Given the description of an element on the screen output the (x, y) to click on. 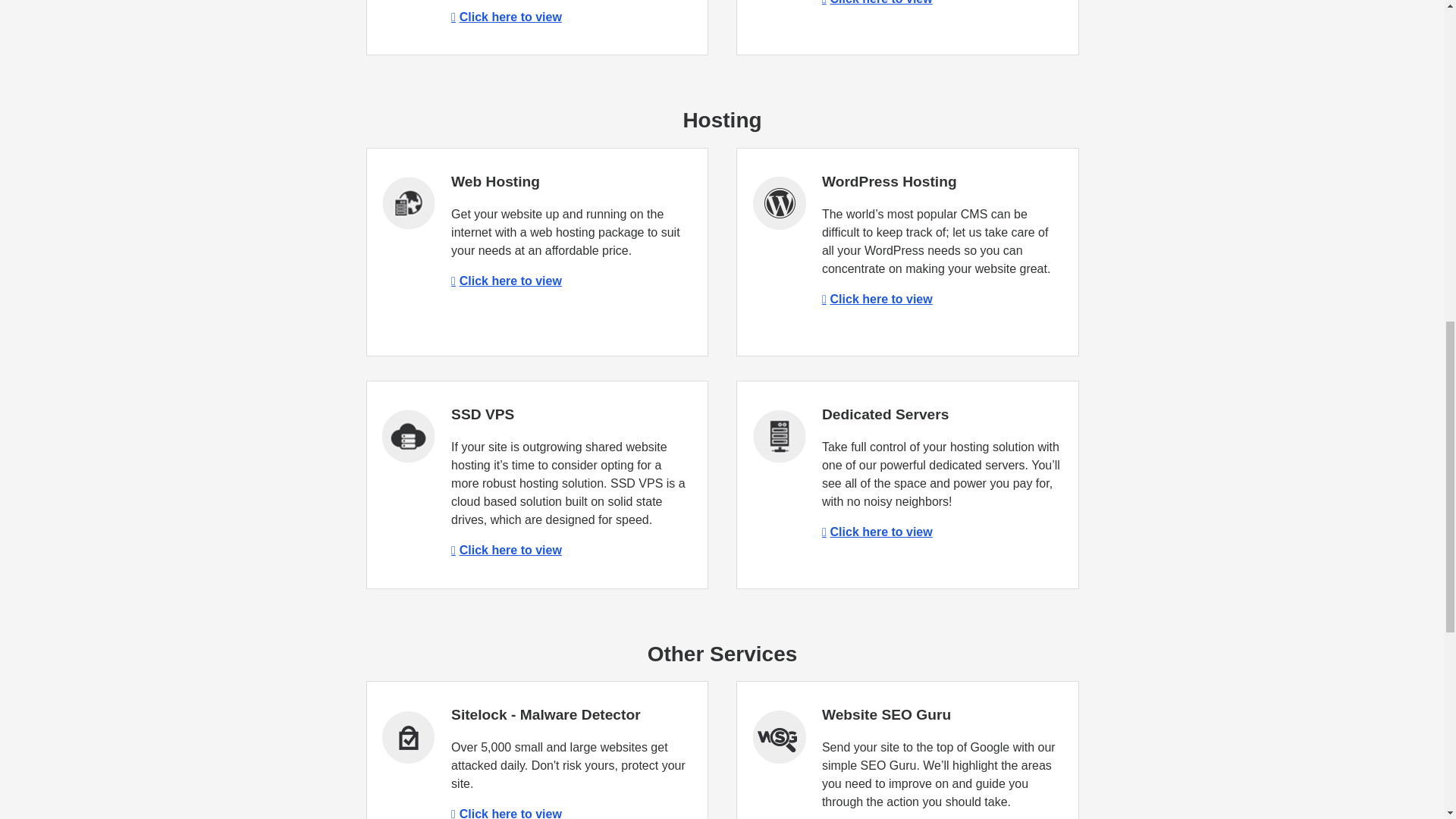
Click here to view (506, 549)
Click here to view (506, 280)
Click here to view (506, 813)
Click here to view (506, 16)
Click here to view (877, 298)
Click here to view (877, 2)
Click here to view (877, 531)
